Given the description of an element on the screen output the (x, y) to click on. 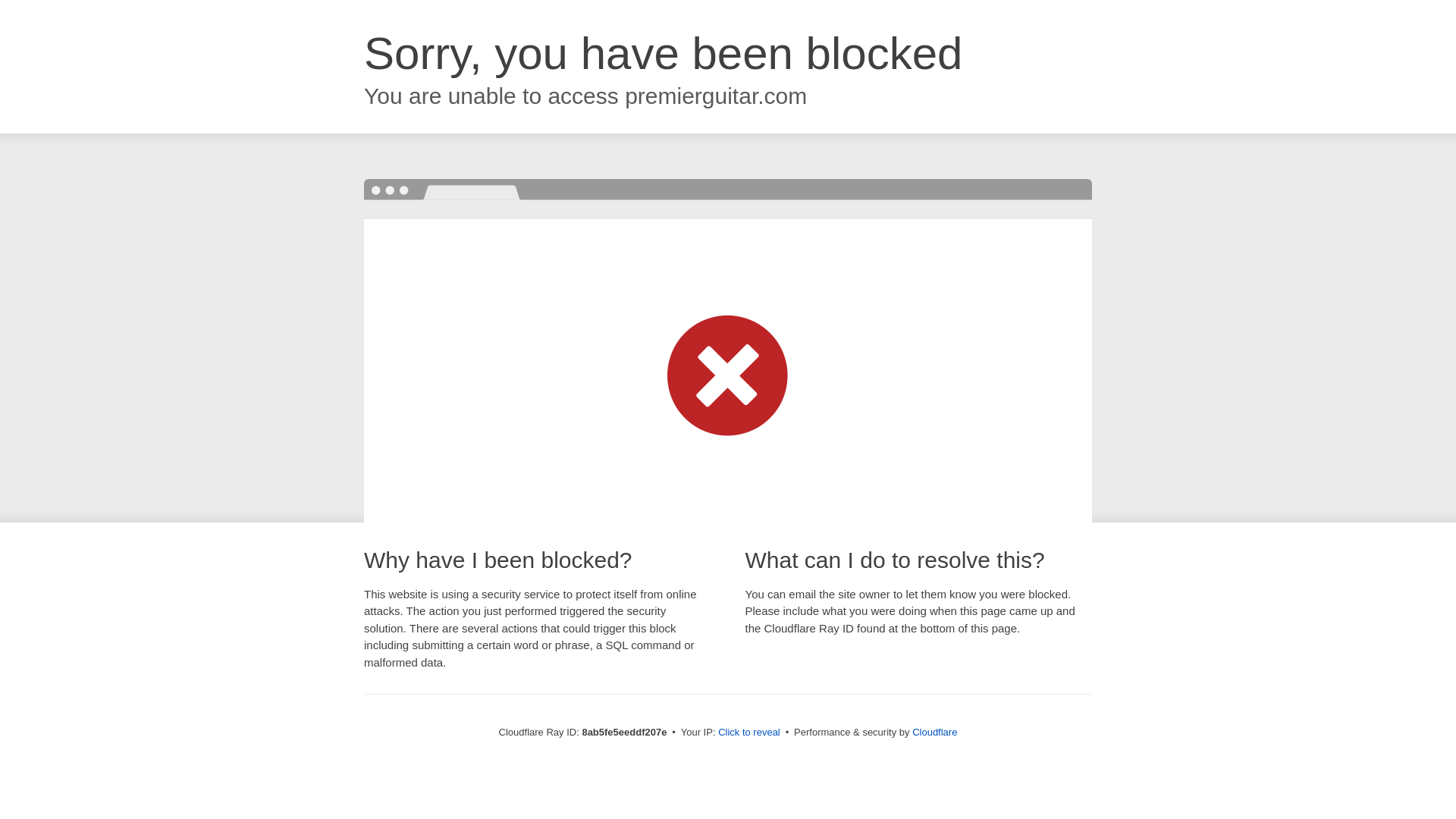
Cloudflare (934, 731)
Click to reveal (748, 732)
